Given the description of an element on the screen output the (x, y) to click on. 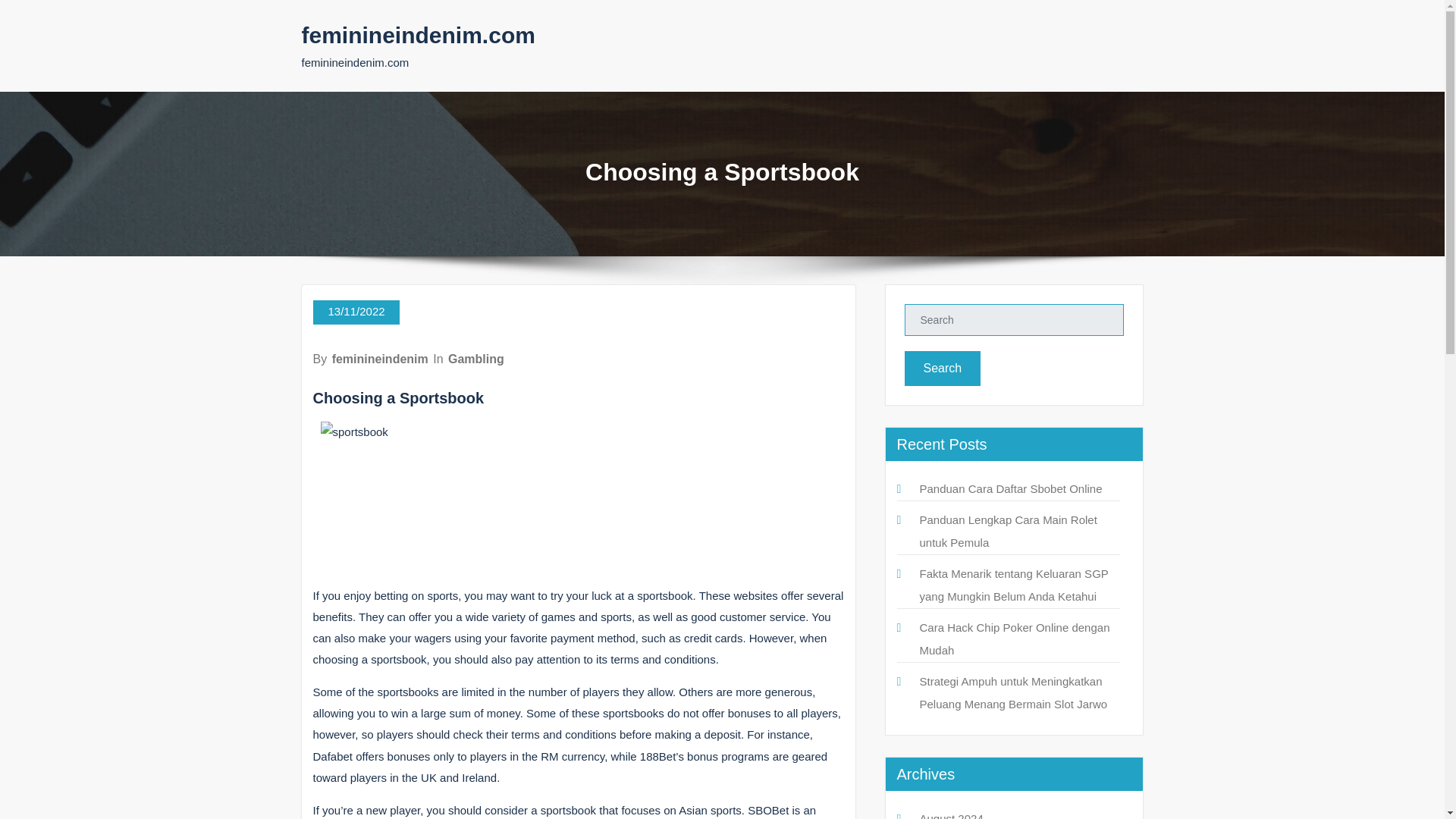
August 2024 (950, 815)
feminineindenim.com (418, 34)
Panduan Lengkap Cara Main Rolet untuk Pemula (1007, 530)
Cara Hack Chip Poker Online dengan Mudah (1013, 638)
Gambling (475, 358)
feminineindenim (379, 358)
Panduan Cara Daftar Sbobet Online (1010, 488)
Search (941, 368)
